Given the description of an element on the screen output the (x, y) to click on. 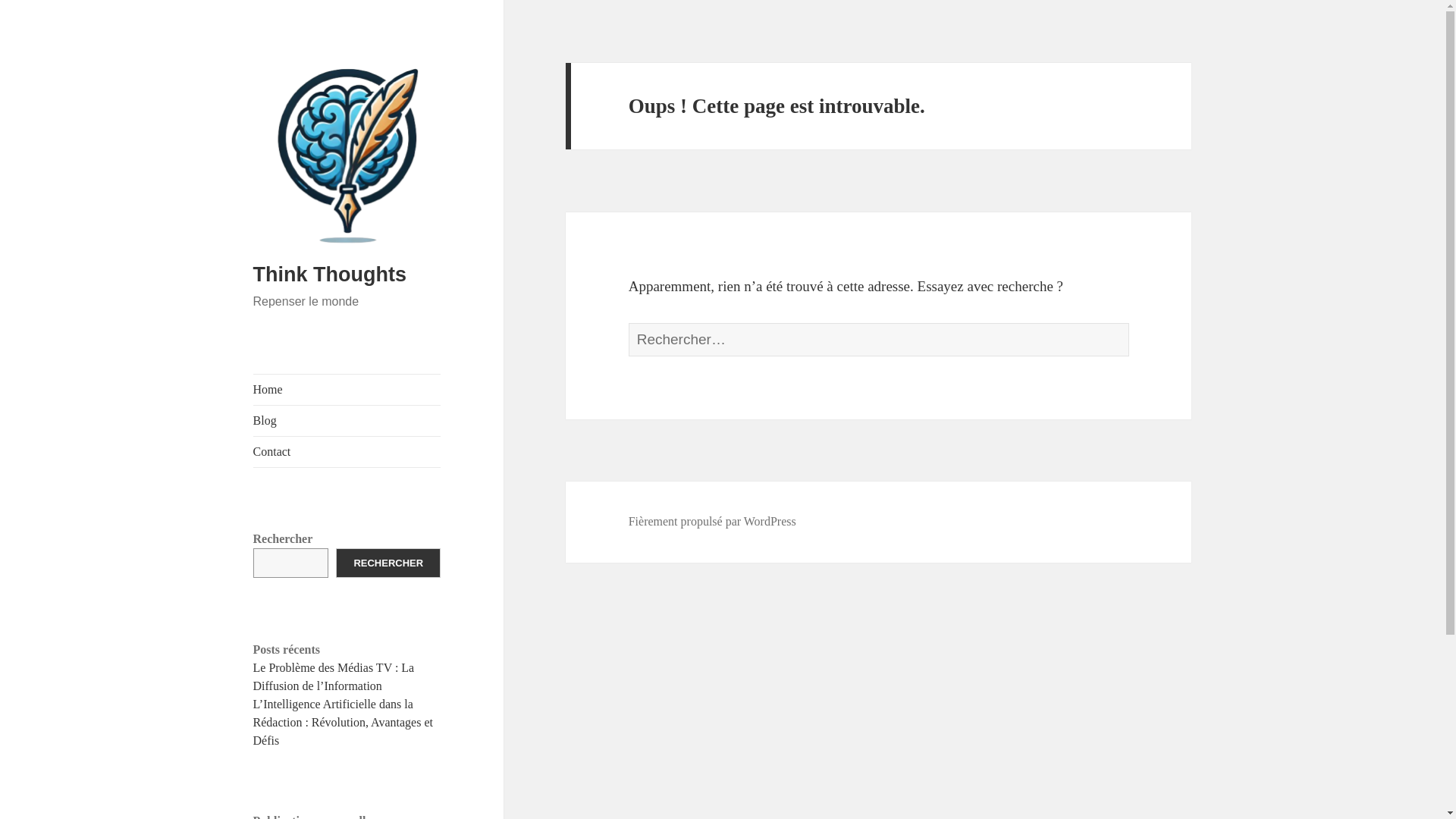
Contact (347, 451)
Think Thoughts (329, 273)
RECHERCHER (388, 562)
Home (347, 389)
Blog (347, 420)
